Given the description of an element on the screen output the (x, y) to click on. 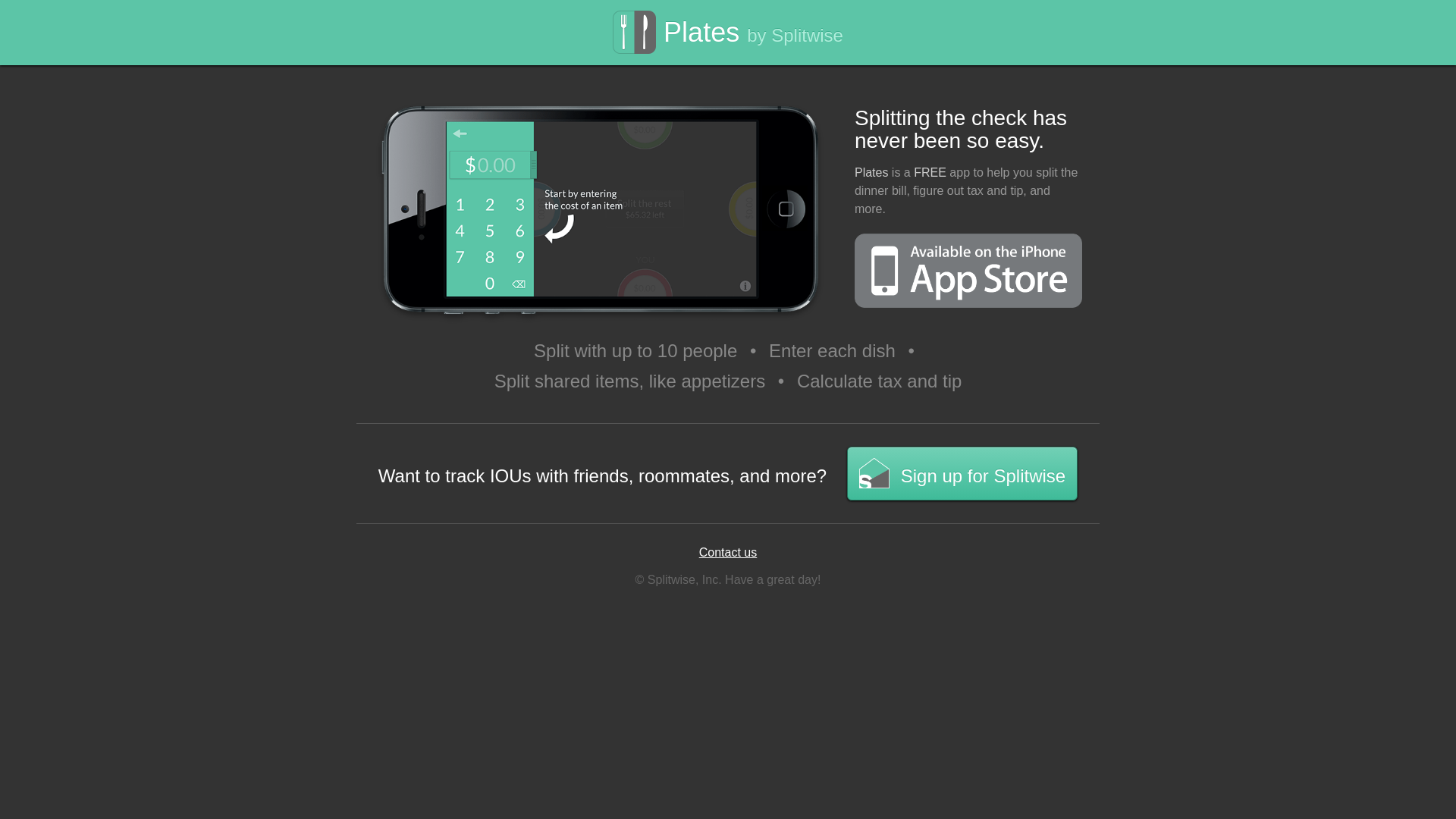
Contact us (727, 552)
Splitwise, Inc. (684, 579)
Sign up for Splitwise (962, 473)
Plates by Splitwise (727, 36)
